Given the description of an element on the screen output the (x, y) to click on. 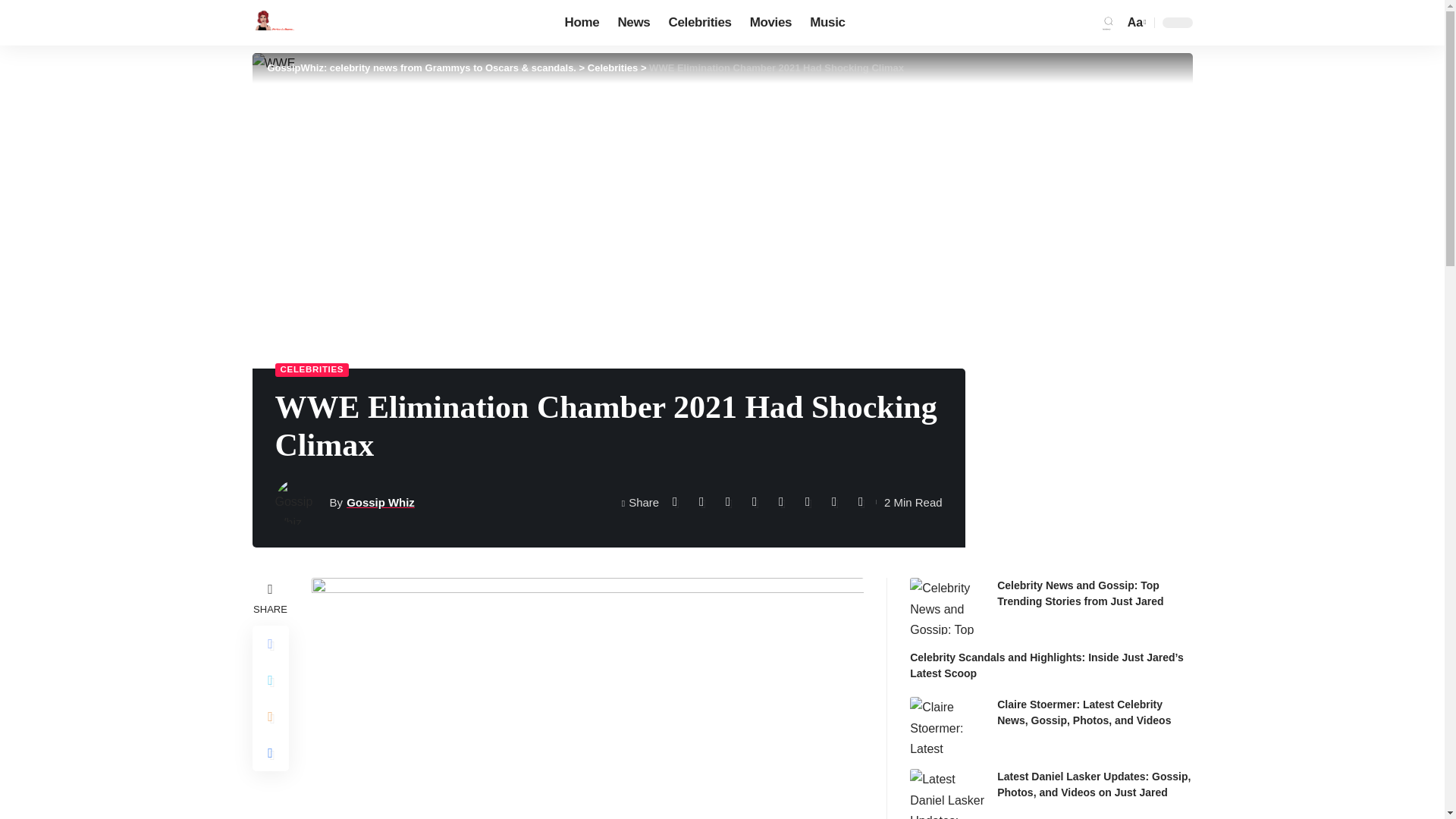
Gossip Whiz (380, 502)
News (633, 22)
Movies (771, 22)
Aa (1135, 22)
Go to the Celebrities Category archives. (612, 67)
Home (582, 22)
Celebrities (699, 22)
Celebrities (612, 67)
CELEBRITIES (312, 369)
Music (826, 22)
